Given the description of an element on the screen output the (x, y) to click on. 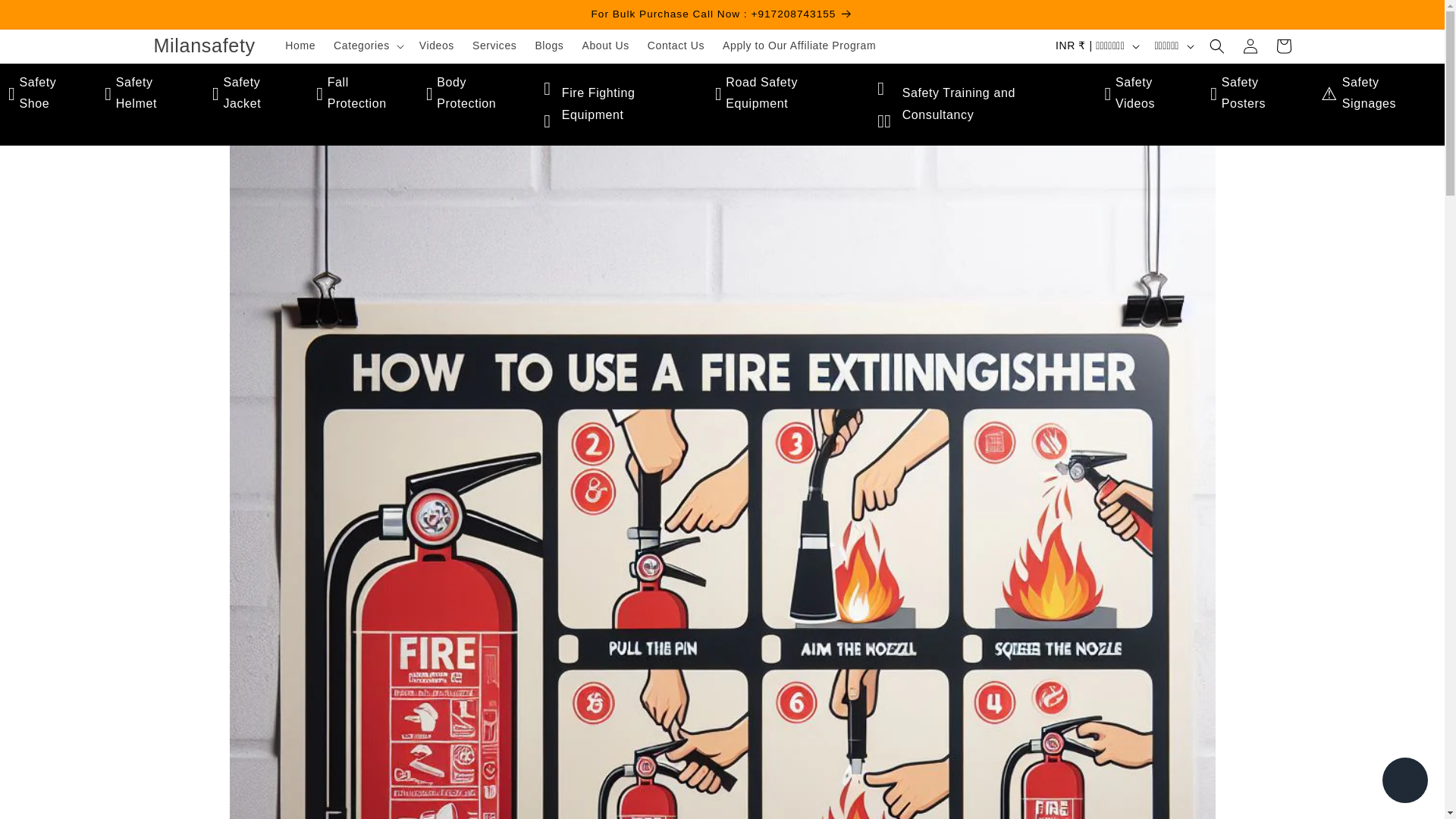
Skip to content (45, 16)
Shopify online store chat (1404, 781)
